Given the description of an element on the screen output the (x, y) to click on. 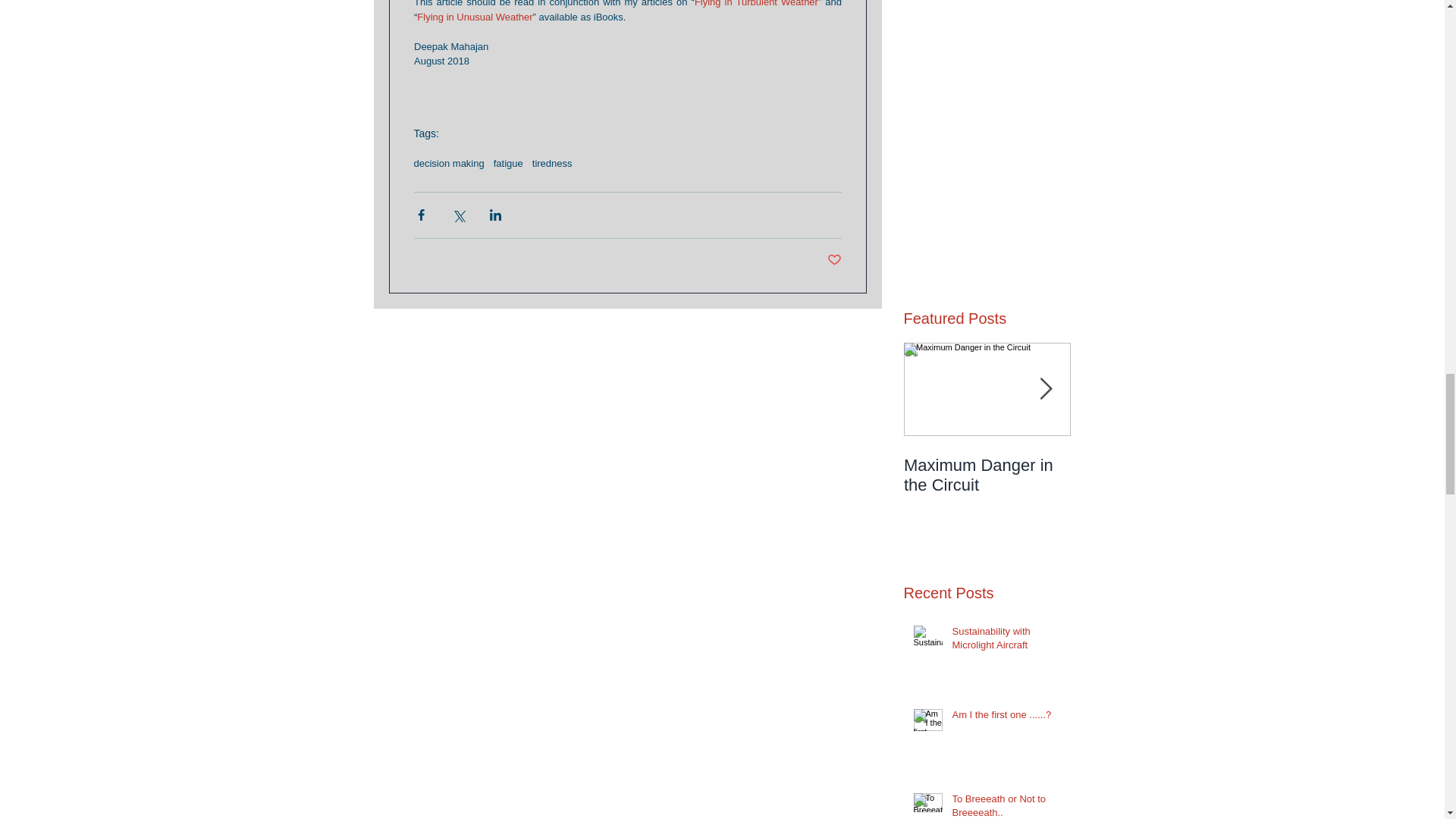
Am I the first one ......? (1006, 718)
To Breeeath or Not to Breeeeath.. (1006, 805)
Flying in Turbulent Weather (755, 3)
Maximum Danger in the Circuit (987, 475)
Sustainability with Microlight Aircraft (1006, 641)
Flying in Unusual Weather (474, 16)
fatigue (507, 163)
Post not marked as liked (834, 260)
decision making (448, 163)
tiredness (552, 163)
